Given the description of an element on the screen output the (x, y) to click on. 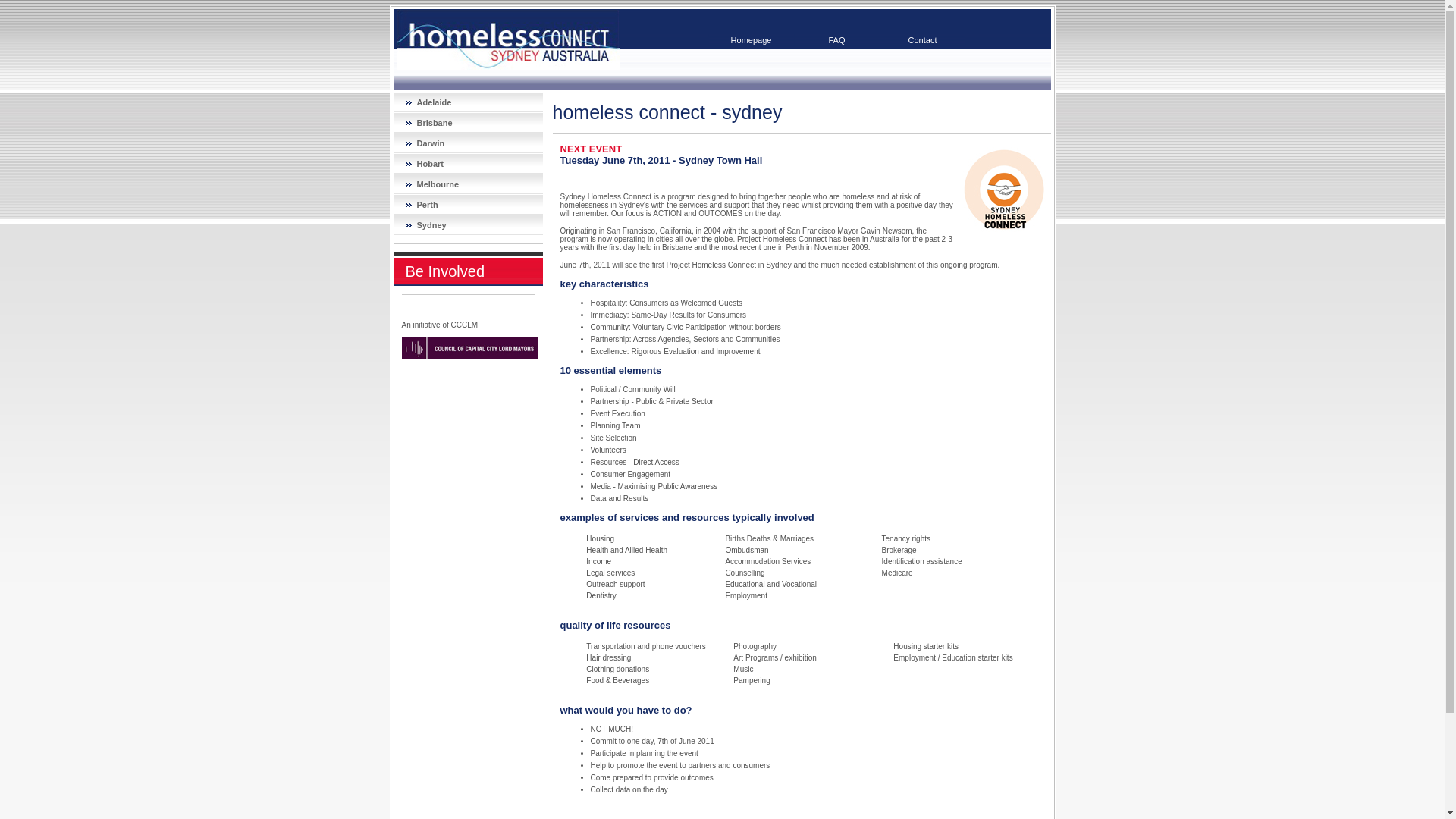
Sydney Element type: text (468, 225)
Homepage Element type: text (750, 41)
Brisbane Element type: text (468, 122)
Perth Element type: text (468, 204)
Hobart Element type: text (468, 163)
FAQ Element type: text (836, 41)
Adelaide Element type: text (468, 102)
Contact Element type: text (921, 41)
Darwin Element type: text (468, 143)
Melbourne Element type: text (468, 184)
